Given the description of an element on the screen output the (x, y) to click on. 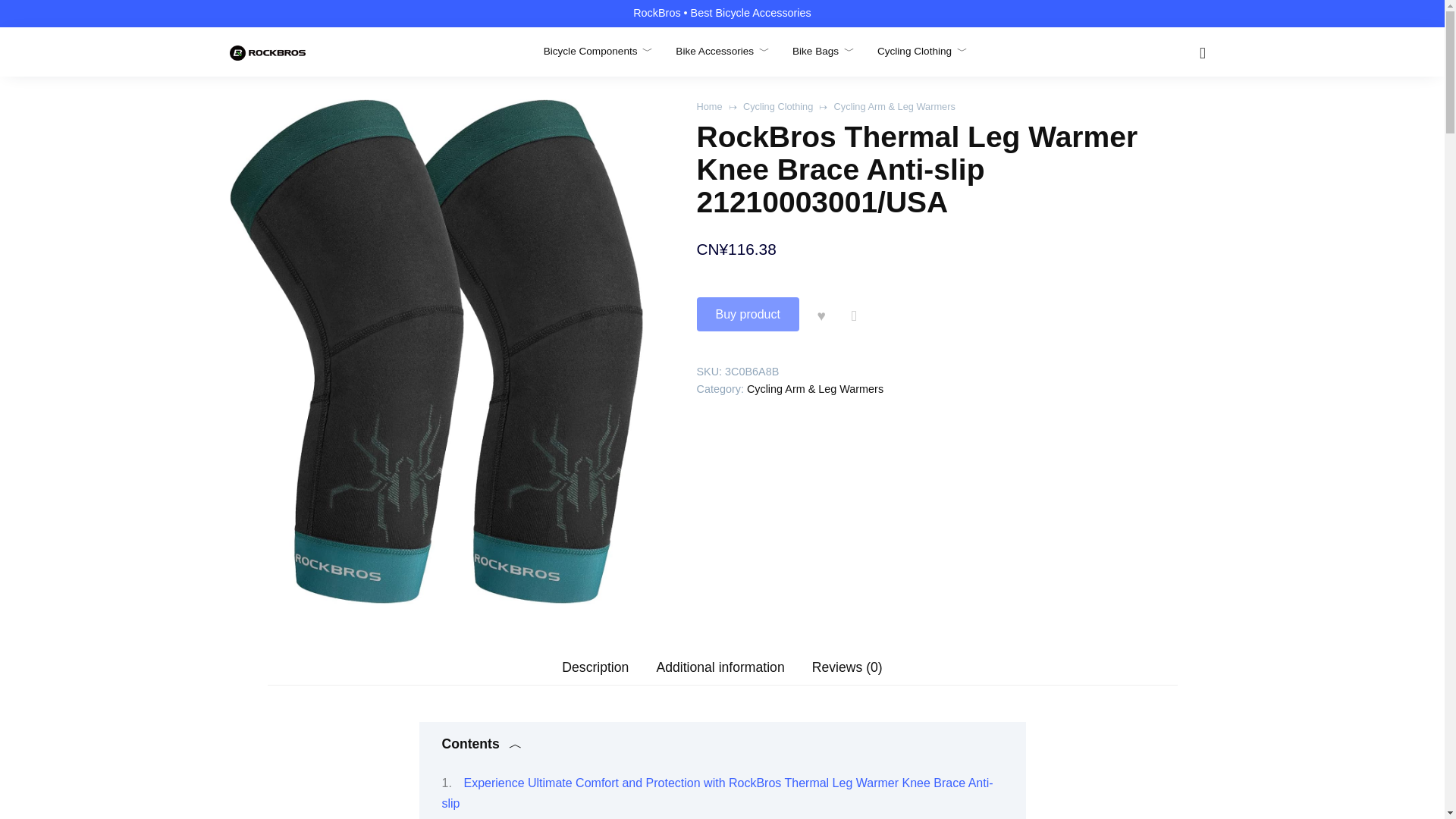
Cycling Clothing (922, 50)
Buy product (746, 314)
Bike Accessories (722, 50)
Add to Compare (853, 313)
Cycling Clothing (777, 106)
Bicycle Components (598, 50)
Bike Bags (823, 50)
Additional information (720, 667)
Add to Favorite (820, 313)
Home (708, 106)
Description (595, 667)
